Given the description of an element on the screen output the (x, y) to click on. 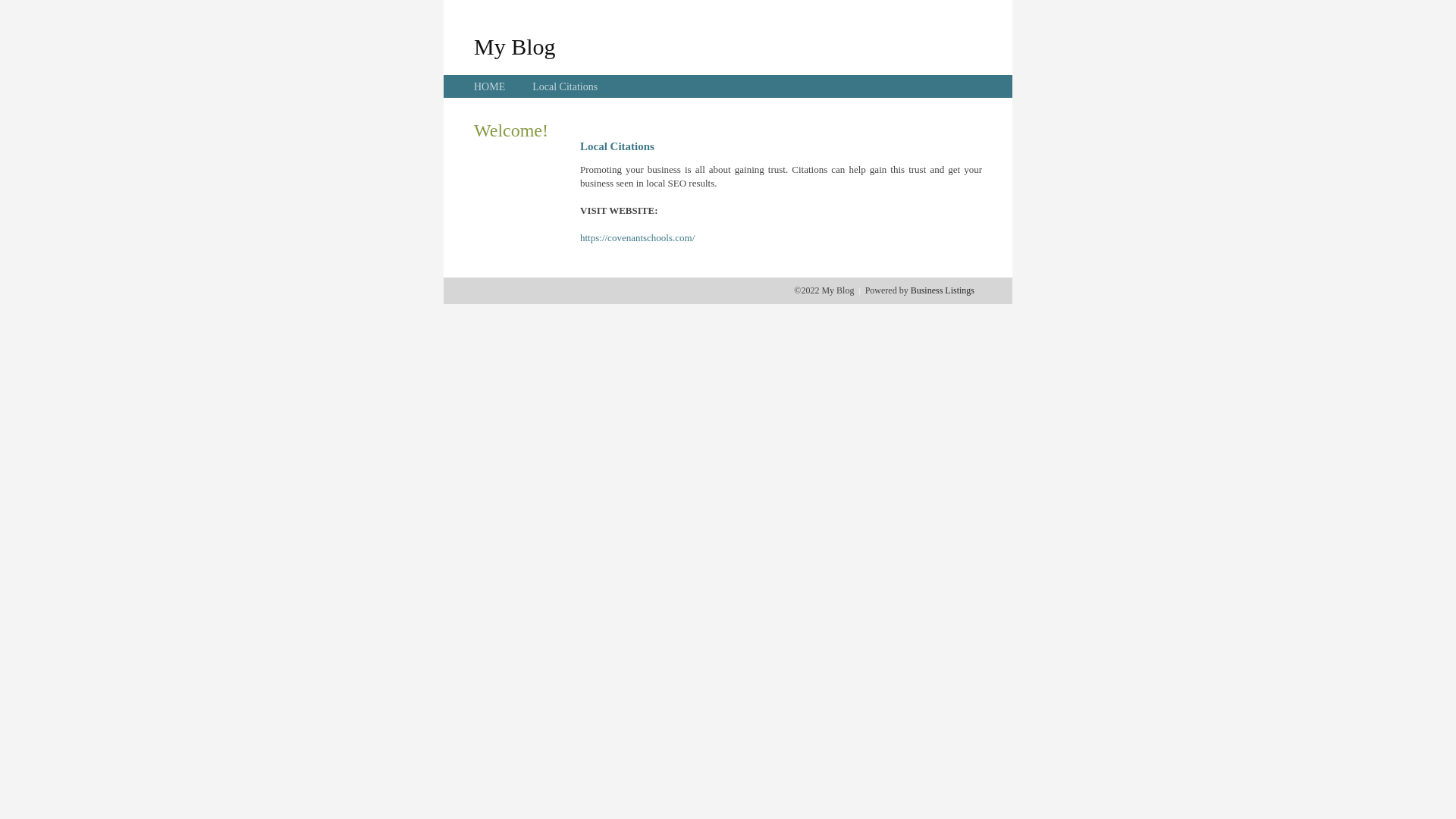
Business Listings Element type: text (942, 290)
My Blog Element type: text (514, 46)
Local Citations Element type: text (564, 86)
HOME Element type: text (489, 86)
https://covenantschools.com/ Element type: text (637, 237)
